Given the description of an element on the screen output the (x, y) to click on. 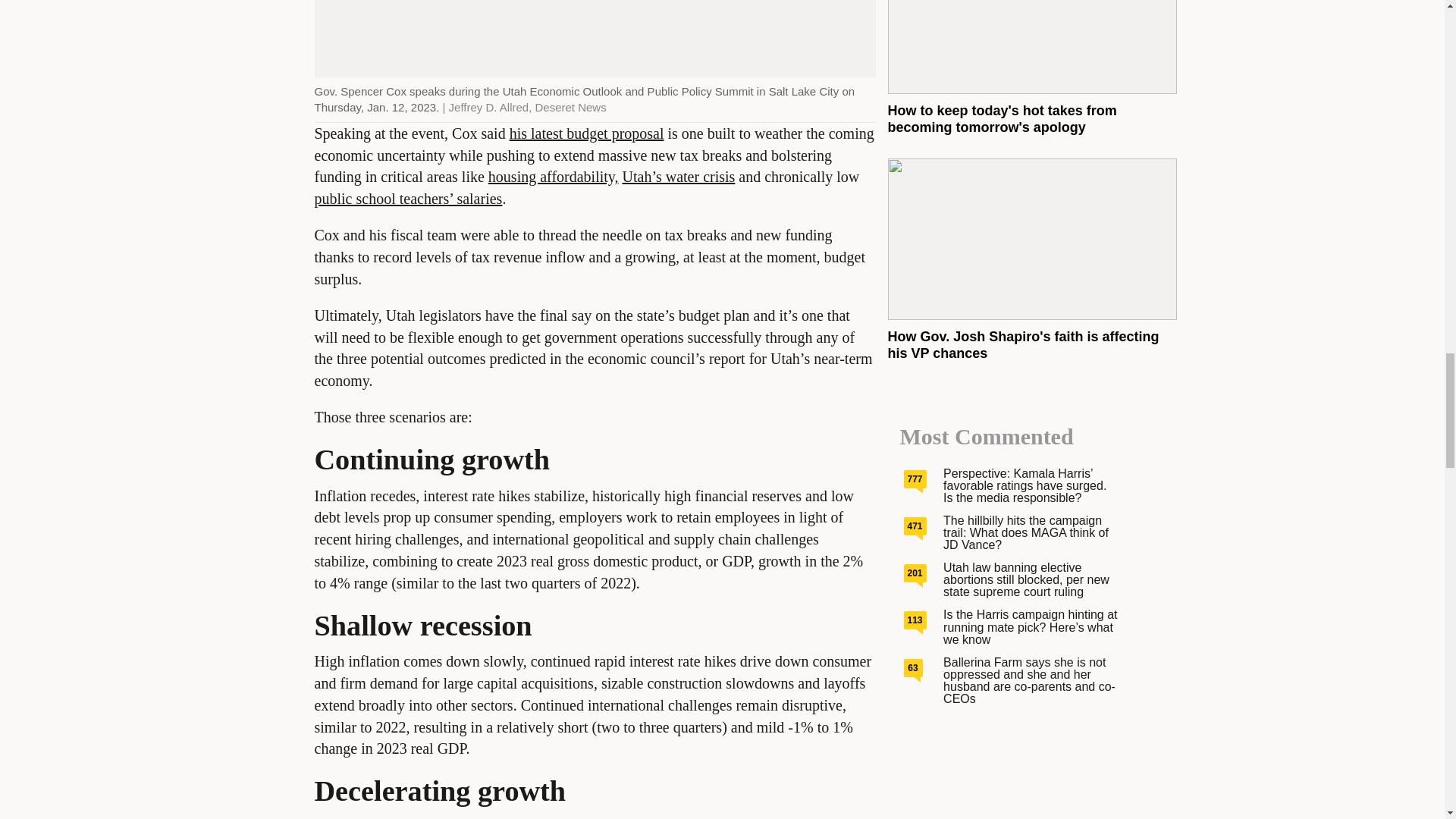
his latest budget proposal (586, 133)
housing affordability, (552, 176)
